Given the description of an element on the screen output the (x, y) to click on. 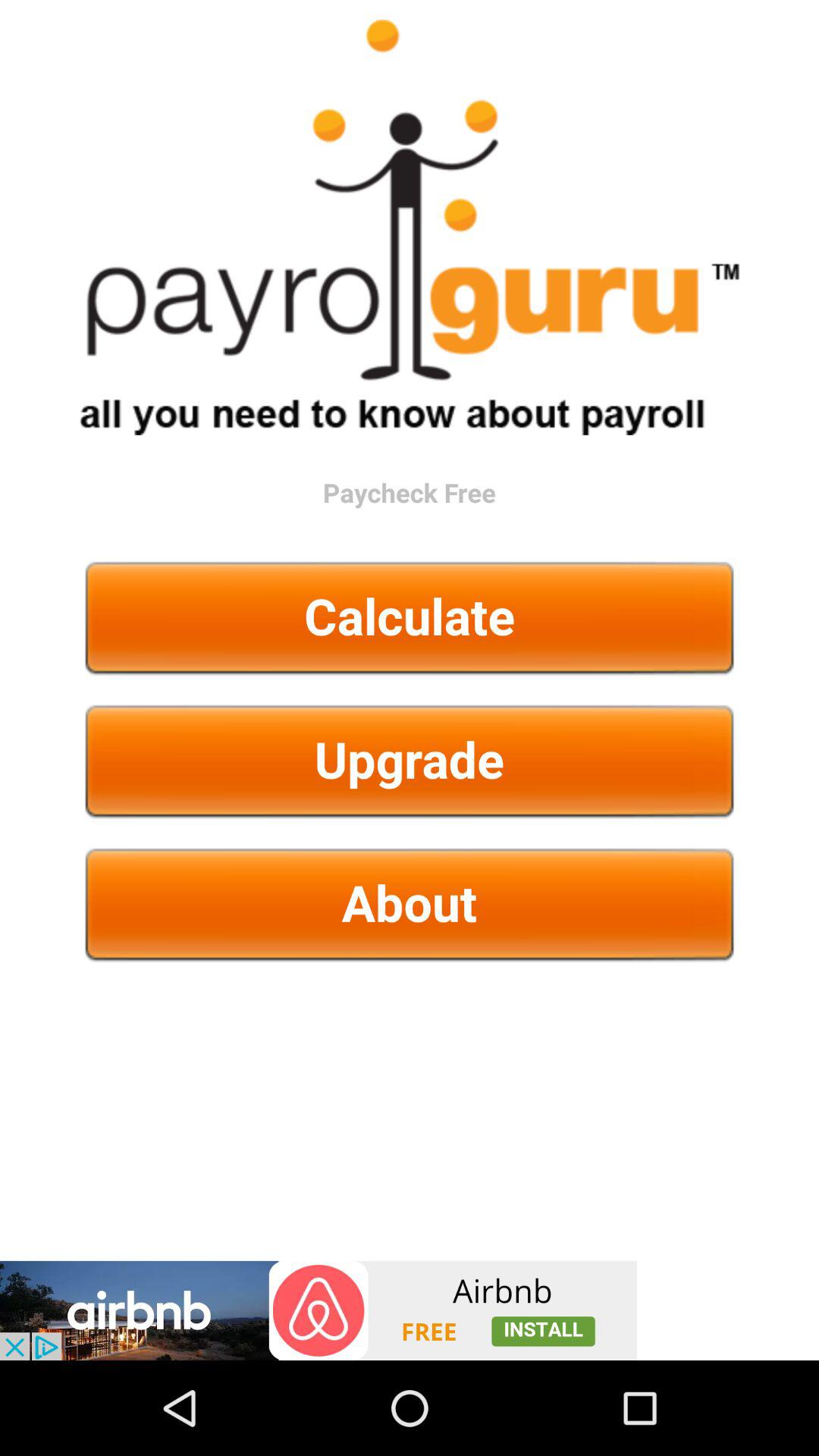
click advertisement (318, 1310)
